Given the description of an element on the screen output the (x, y) to click on. 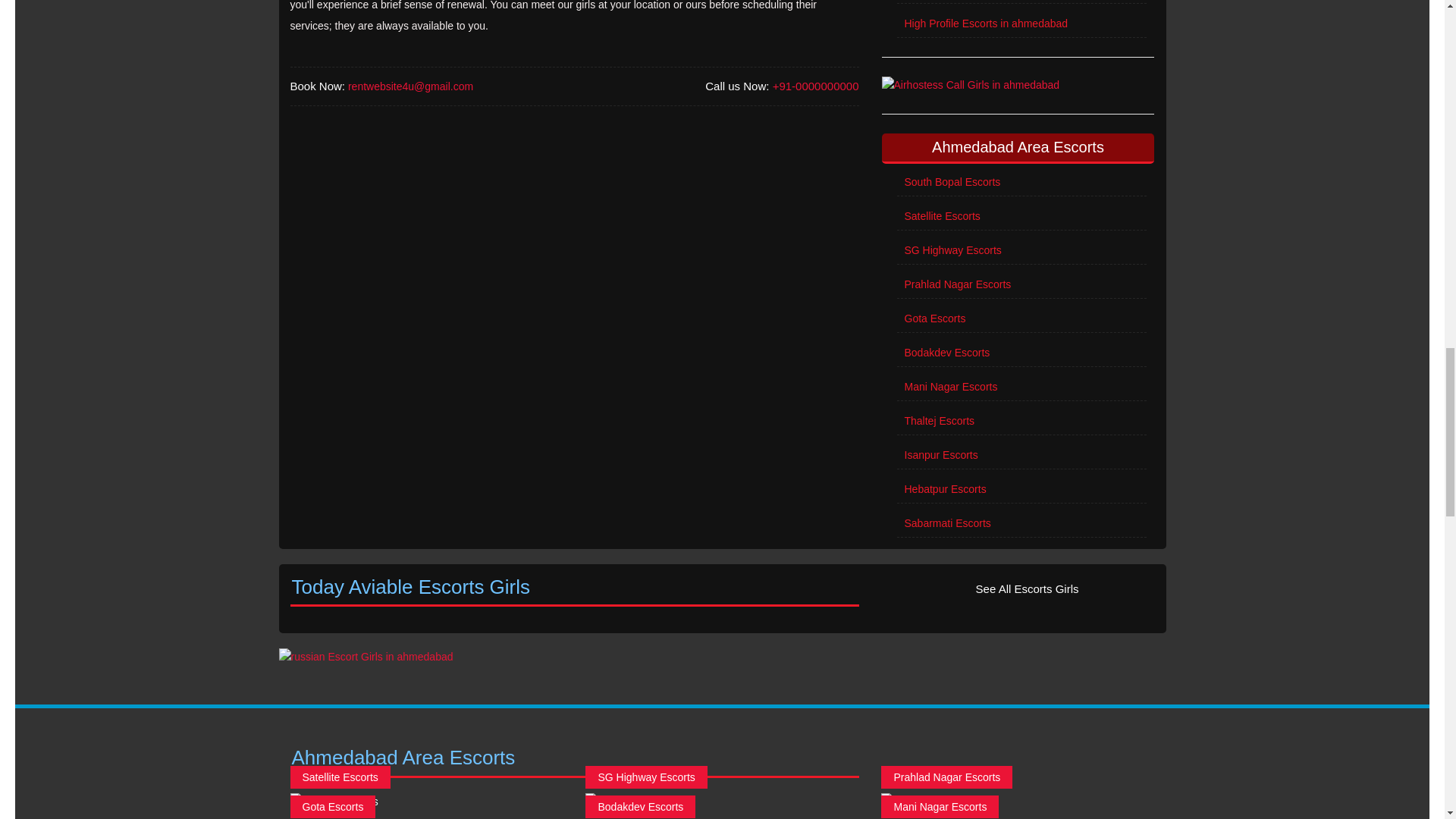
SG Highway Escorts (1021, 251)
Satellite Escorts (1021, 216)
College Student Escorts in ahmedabad (1021, 2)
Bodakdev Escorts (1021, 353)
Airhostess Call Girls in ahmedabad (1017, 85)
Gota Escorts (1021, 319)
High Profile Escorts in ahmedabad (1021, 24)
South Bopal Escorts (1021, 182)
Mani Nagar Escorts (1021, 387)
Prahlad Nagar Escorts (1021, 284)
